Given the description of an element on the screen output the (x, y) to click on. 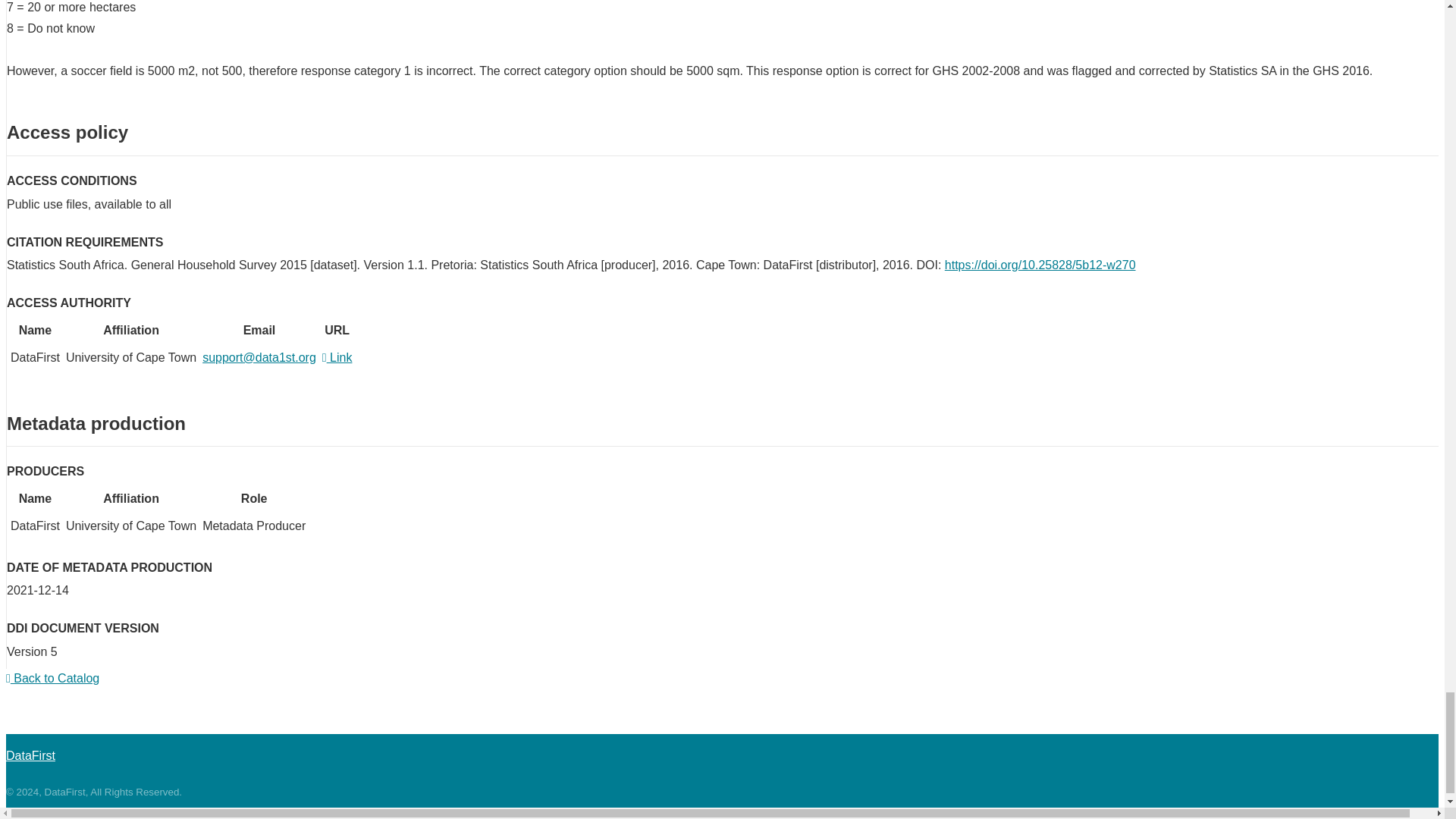
Link (336, 357)
Back to Catalog (52, 677)
DataFirst (30, 747)
